Given the description of an element on the screen output the (x, y) to click on. 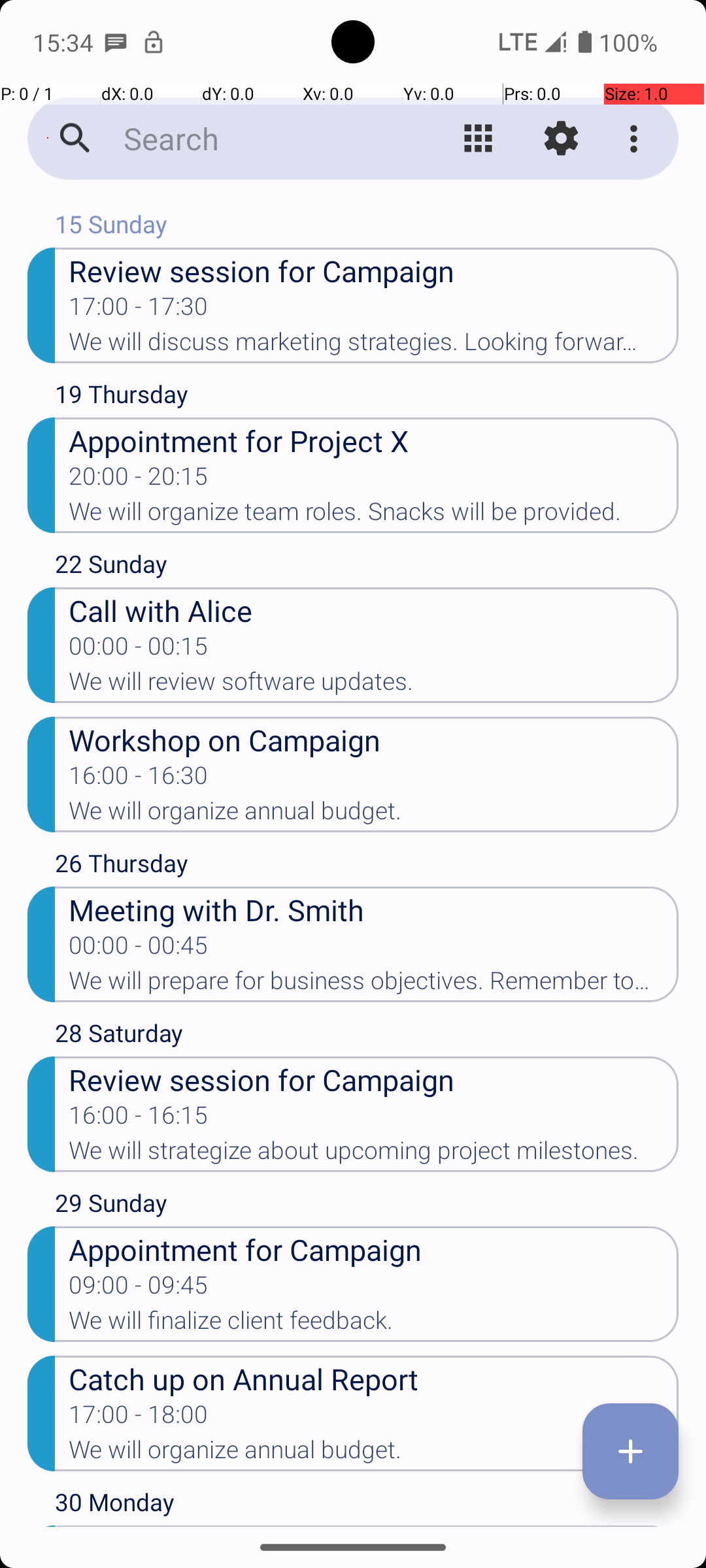
OCTOBER Element type: android.widget.TextView (353, 200)
19 Thursday Element type: android.widget.TextView (366, 396)
22 Sunday Element type: android.widget.TextView (366, 566)
26 Thursday Element type: android.widget.TextView (366, 866)
28 Saturday Element type: android.widget.TextView (366, 1035)
29 Sunday Element type: android.widget.TextView (366, 1205)
30 Monday Element type: android.widget.TextView (366, 1505)
17:00 - 17:30 Element type: android.widget.TextView (137, 309)
We will discuss marketing strategies. Looking forward to productive discussions. Element type: android.widget.TextView (373, 345)
Appointment for Project X Element type: android.widget.TextView (373, 439)
20:00 - 20:15 Element type: android.widget.TextView (137, 479)
We will organize team roles. Snacks will be provided. Element type: android.widget.TextView (373, 515)
Call with Alice Element type: android.widget.TextView (373, 609)
00:00 - 00:15 Element type: android.widget.TextView (137, 649)
We will review software updates. Element type: android.widget.TextView (373, 684)
16:00 - 16:30 Element type: android.widget.TextView (137, 779)
We will organize annual budget. Element type: android.widget.TextView (373, 814)
Meeting with Dr. Smith Element type: android.widget.TextView (373, 908)
00:00 - 00:45 Element type: android.widget.TextView (137, 948)
We will prepare for business objectives. Remember to confirm attendance. Element type: android.widget.TextView (373, 984)
16:00 - 16:15 Element type: android.widget.TextView (137, 1118)
We will strategize about upcoming project milestones. Element type: android.widget.TextView (373, 1154)
Appointment for Campaign Element type: android.widget.TextView (373, 1248)
09:00 - 09:45 Element type: android.widget.TextView (137, 1288)
We will finalize client feedback. Element type: android.widget.TextView (373, 1323)
17:00 - 18:00 Element type: android.widget.TextView (137, 1418)
Meeting with the Team Element type: android.widget.TextView (373, 1525)
